Given the description of an element on the screen output the (x, y) to click on. 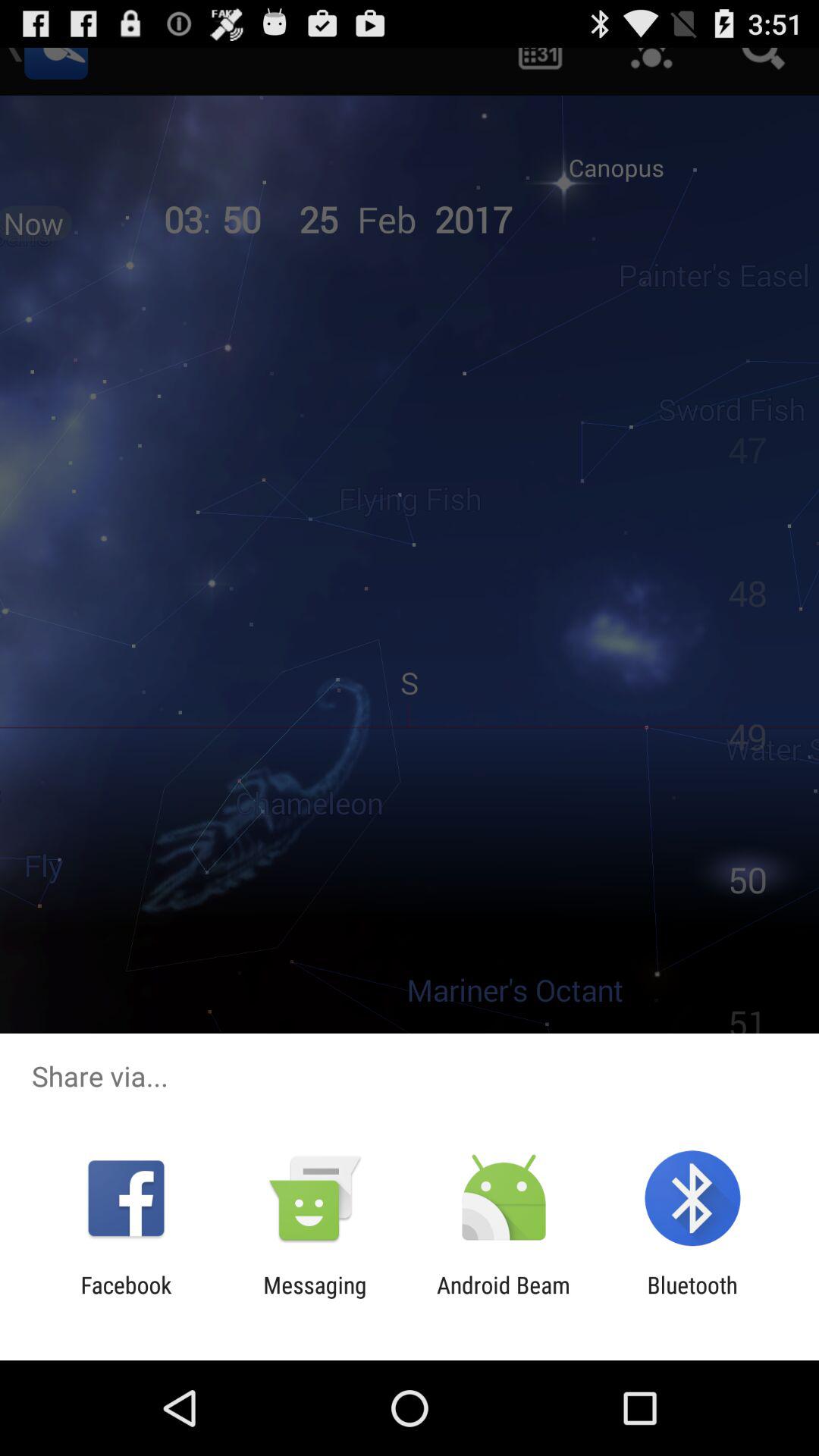
click the app next to messaging (503, 1298)
